Given the description of an element on the screen output the (x, y) to click on. 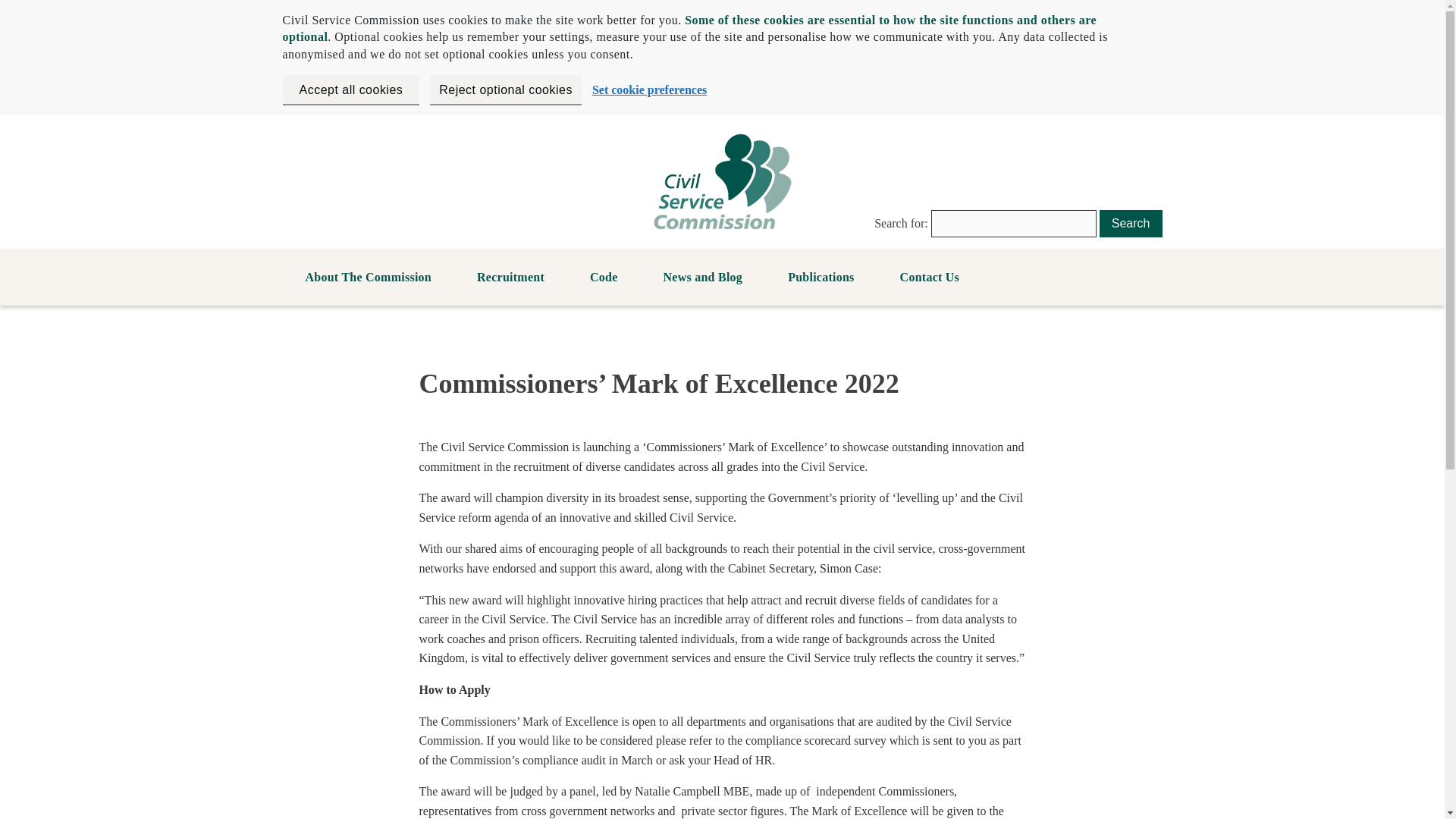
Recruitment (510, 277)
Search (1130, 223)
About The Commission (368, 277)
Reject optional cookies (504, 89)
Code (603, 277)
Contact Us (929, 277)
News and Blog (702, 277)
Set cookie preferences (649, 89)
Publications (820, 277)
